Given the description of an element on the screen output the (x, y) to click on. 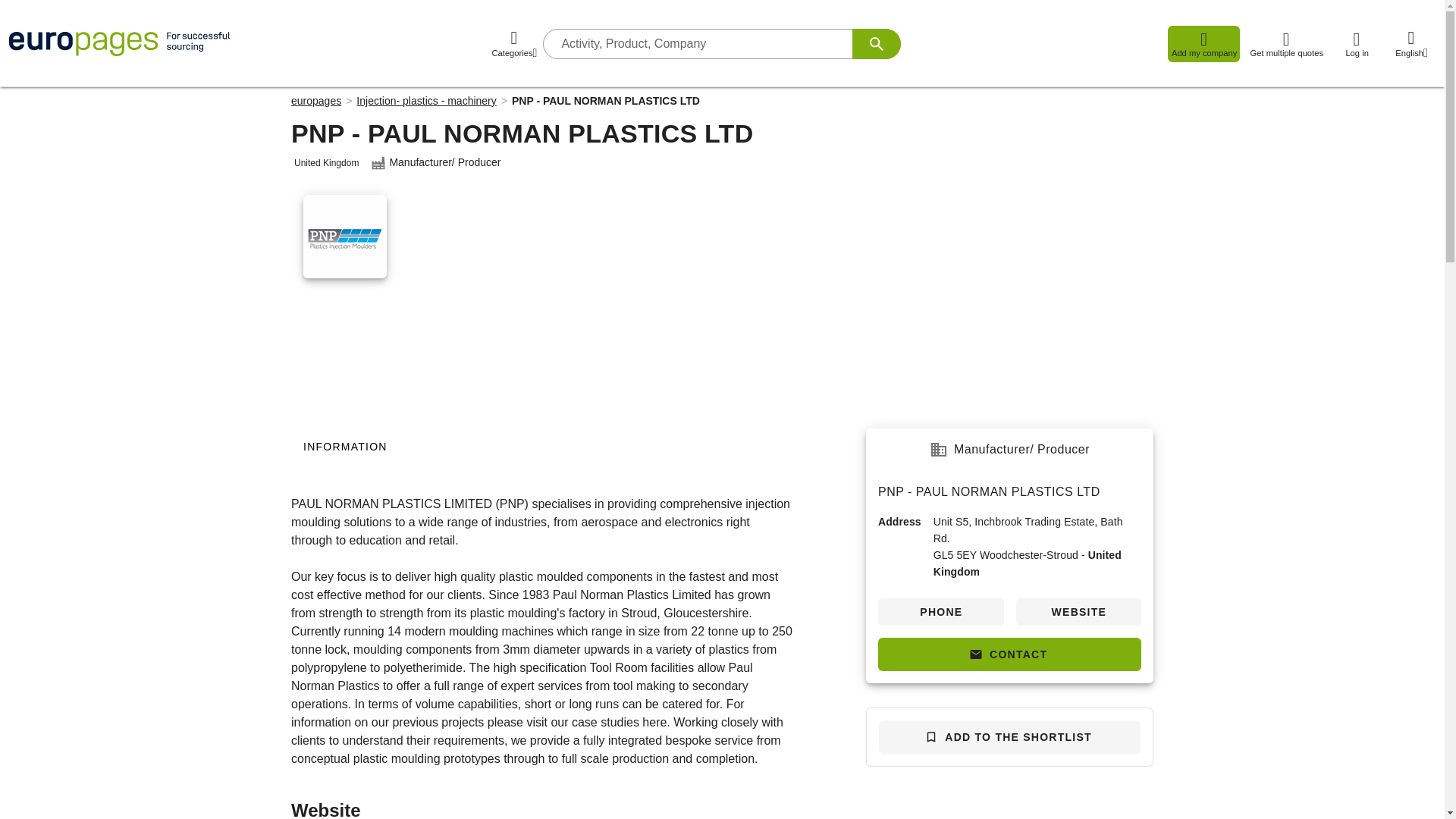
Add my company (1203, 43)
English (1411, 43)
Categories (513, 43)
Log in (1356, 43)
Get multiple quotes (1286, 43)
